Given the description of an element on the screen output the (x, y) to click on. 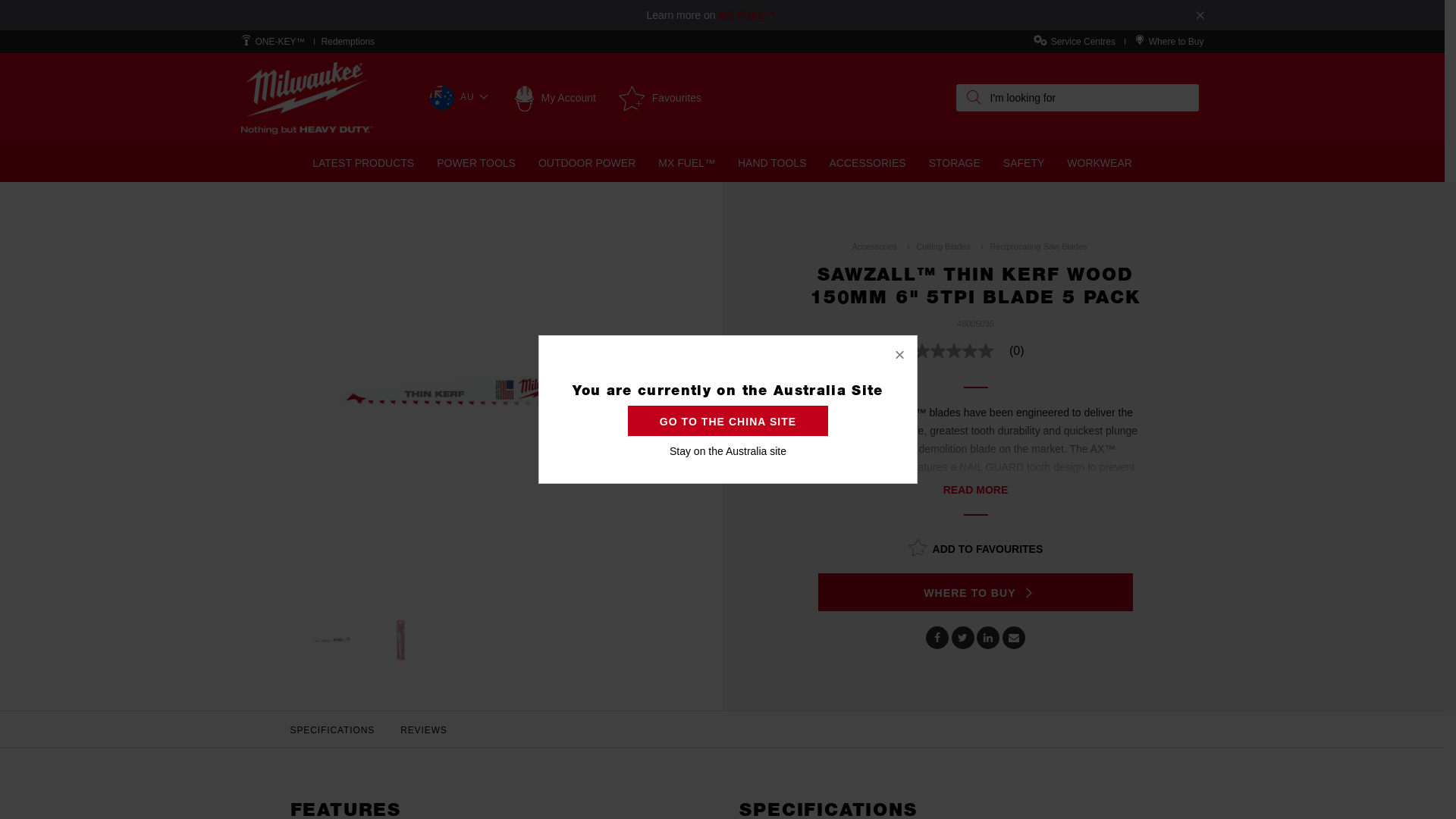
POWER TOOLS Element type: text (476, 163)
Stay on the Australia site Element type: text (727, 451)
WORKWEAR Element type: text (1099, 163)
Reciprocating Saw Blades Element type: text (1037, 245)
ADD TO FAVOURITES Element type: text (975, 546)
global.socialshare.email.label Element type: hover (1013, 637)
Milwaukee Tool Australia Element type: hover (307, 98)
Share on Linkedin Element type: hover (987, 637)
GO TO THE CHINA SITE Element type: text (727, 420)
Service Centres Element type: text (1083, 41)
Redemptions Element type: text (347, 41)
REVIEWS Element type: text (423, 729)
My Account Element type: text (555, 97)
ACCESSORIES Element type: text (866, 163)
SPECIFICATIONS Element type: text (332, 729)
Favourites Element type: text (659, 97)
Accessories Element type: text (873, 245)
READ MORE Element type: text (975, 489)
Cutting Blades Element type: text (943, 245)
OUTDOOR POWER Element type: text (586, 163)
Share on Facebook Element type: hover (936, 637)
STORAGE Element type: text (954, 163)
Share on Twitter Element type: hover (962, 637)
HAND TOOLS Element type: text (772, 163)
LATEST PRODUCTS Element type: text (363, 163)
Where to Buy Element type: text (1176, 41)
SAFETY Element type: text (1023, 163)
